Given the description of an element on the screen output the (x, y) to click on. 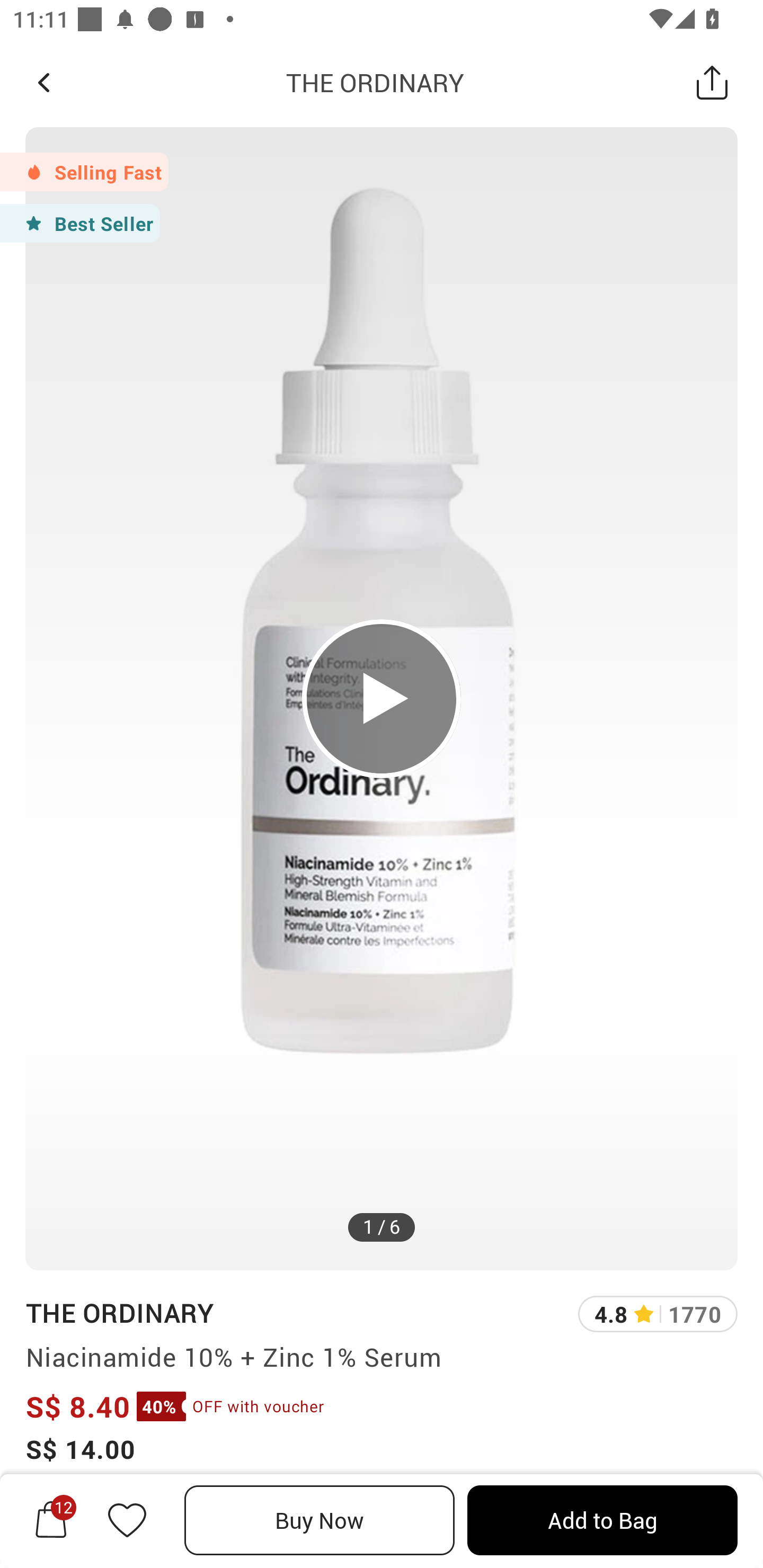
THE ORDINARY (375, 82)
Share this Product (711, 82)
THE ORDINARY (119, 1312)
4.8 1770 (657, 1313)
Buy Now (319, 1519)
Add to Bag (601, 1519)
12 (50, 1520)
